Given the description of an element on the screen output the (x, y) to click on. 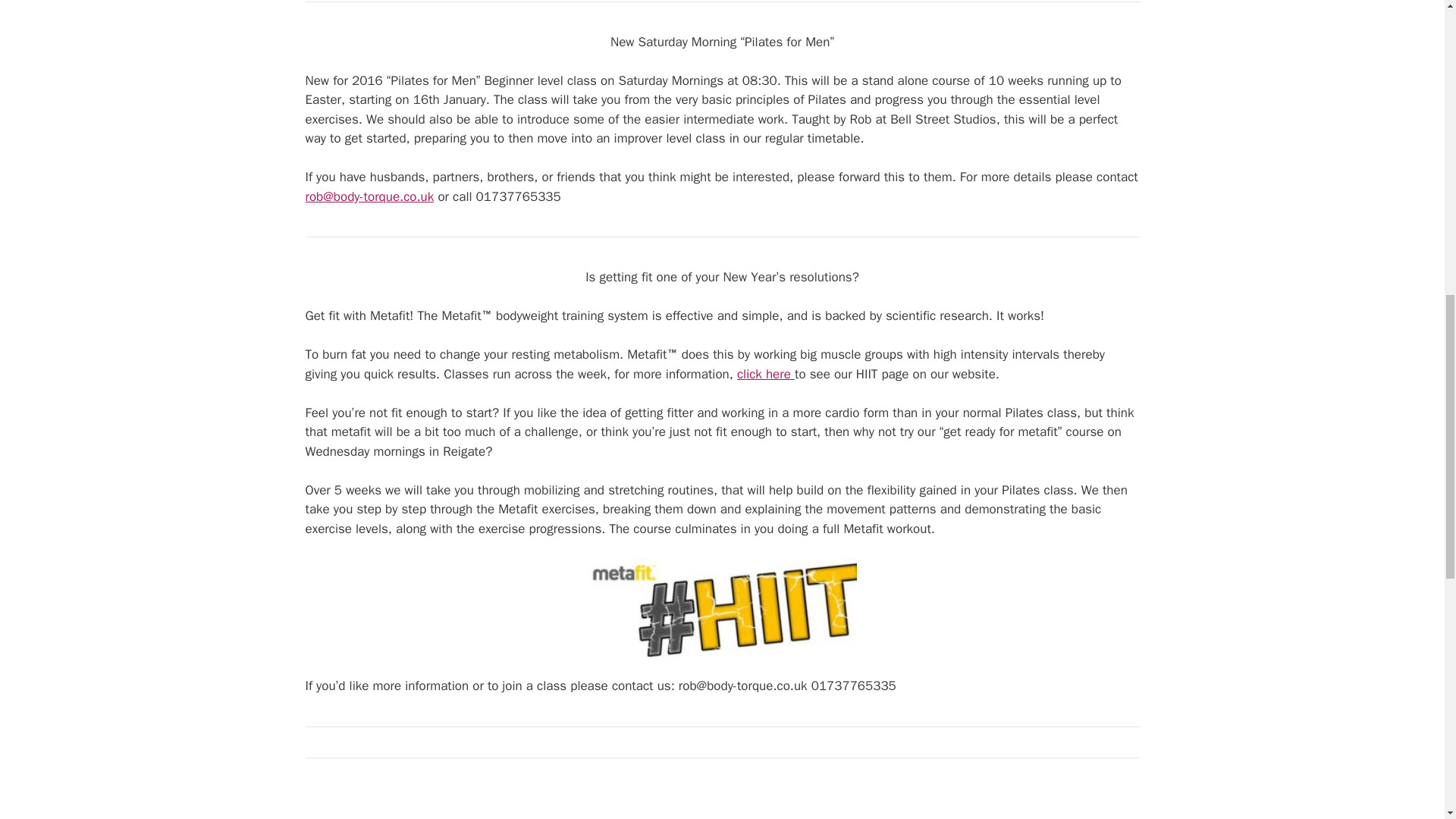
Scroll back to top (1406, 720)
click here (765, 374)
